Given the description of an element on the screen output the (x, y) to click on. 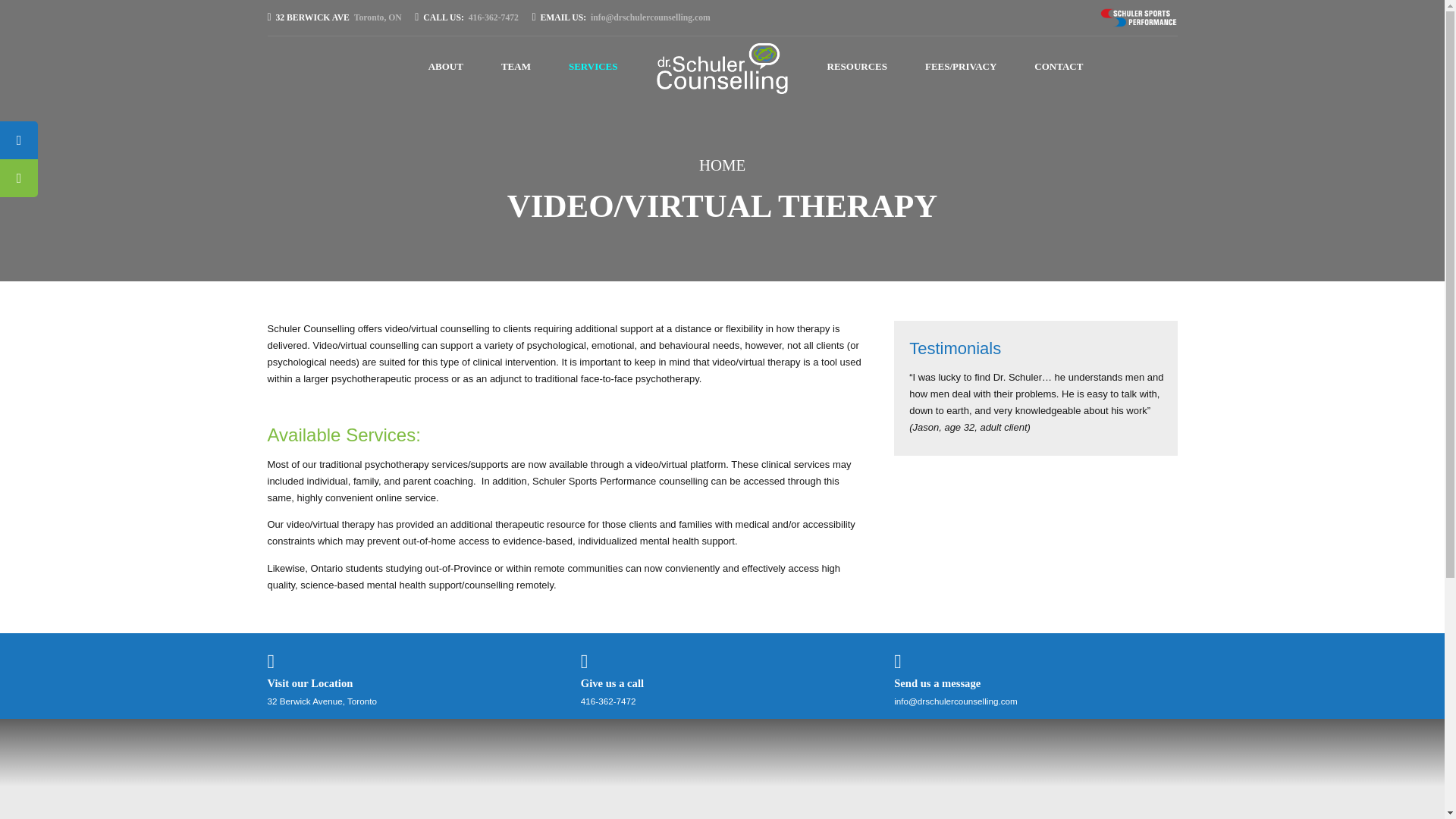
HOME (721, 164)
32 Berwick Avenue, Toronto (320, 700)
RESOURCES (468, 16)
